Given the description of an element on the screen output the (x, y) to click on. 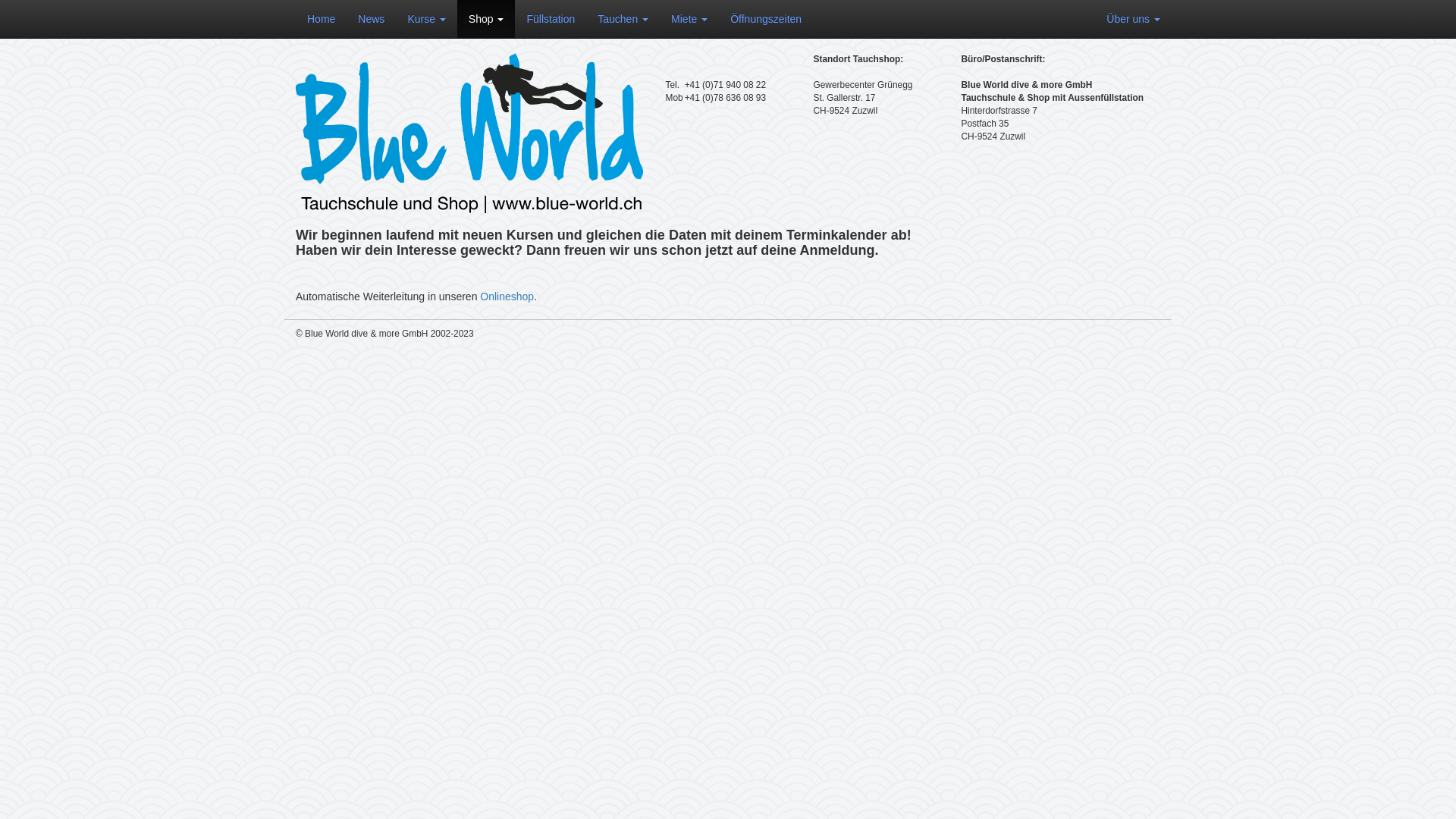
Miete Element type: text (688, 18)
Kurse Element type: text (425, 18)
Onlineshop Element type: text (506, 296)
Kontakt Element type: hover (1133, 336)
Startseite Element type: hover (469, 133)
Home Element type: text (320, 18)
Tauchen Element type: text (622, 18)
Shop Element type: text (486, 18)
News Element type: text (370, 18)
Twitter Element type: hover (1141, 336)
Facebook Element type: hover (1148, 336)
Instagram Element type: hover (1156, 336)
